Given the description of an element on the screen output the (x, y) to click on. 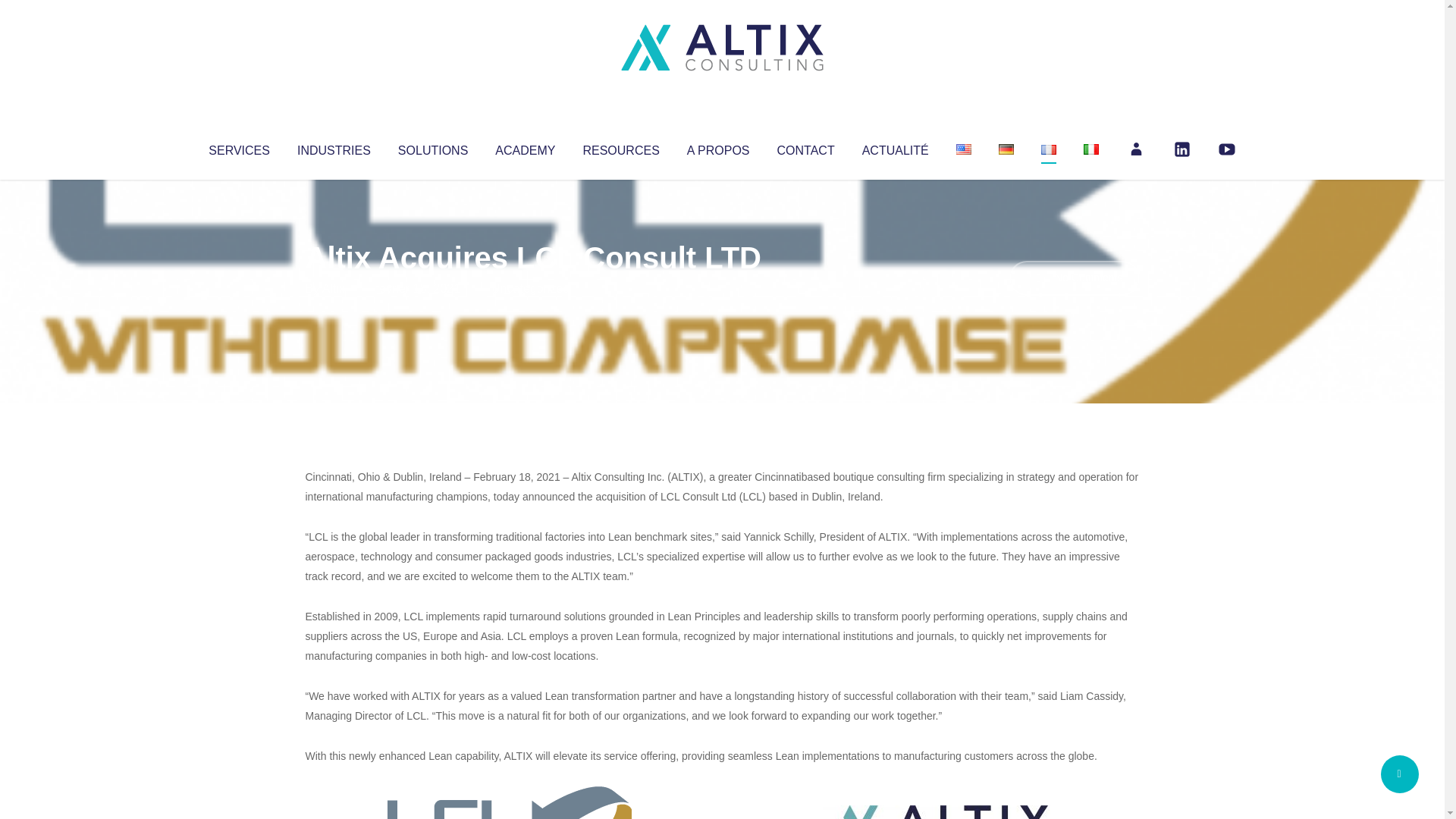
No Comments (1073, 278)
ACADEMY (524, 146)
SERVICES (238, 146)
RESOURCES (620, 146)
A PROPOS (718, 146)
Articles par Altix (333, 287)
Uncategorized (530, 287)
Altix (333, 287)
SOLUTIONS (432, 146)
INDUSTRIES (334, 146)
